Given the description of an element on the screen output the (x, y) to click on. 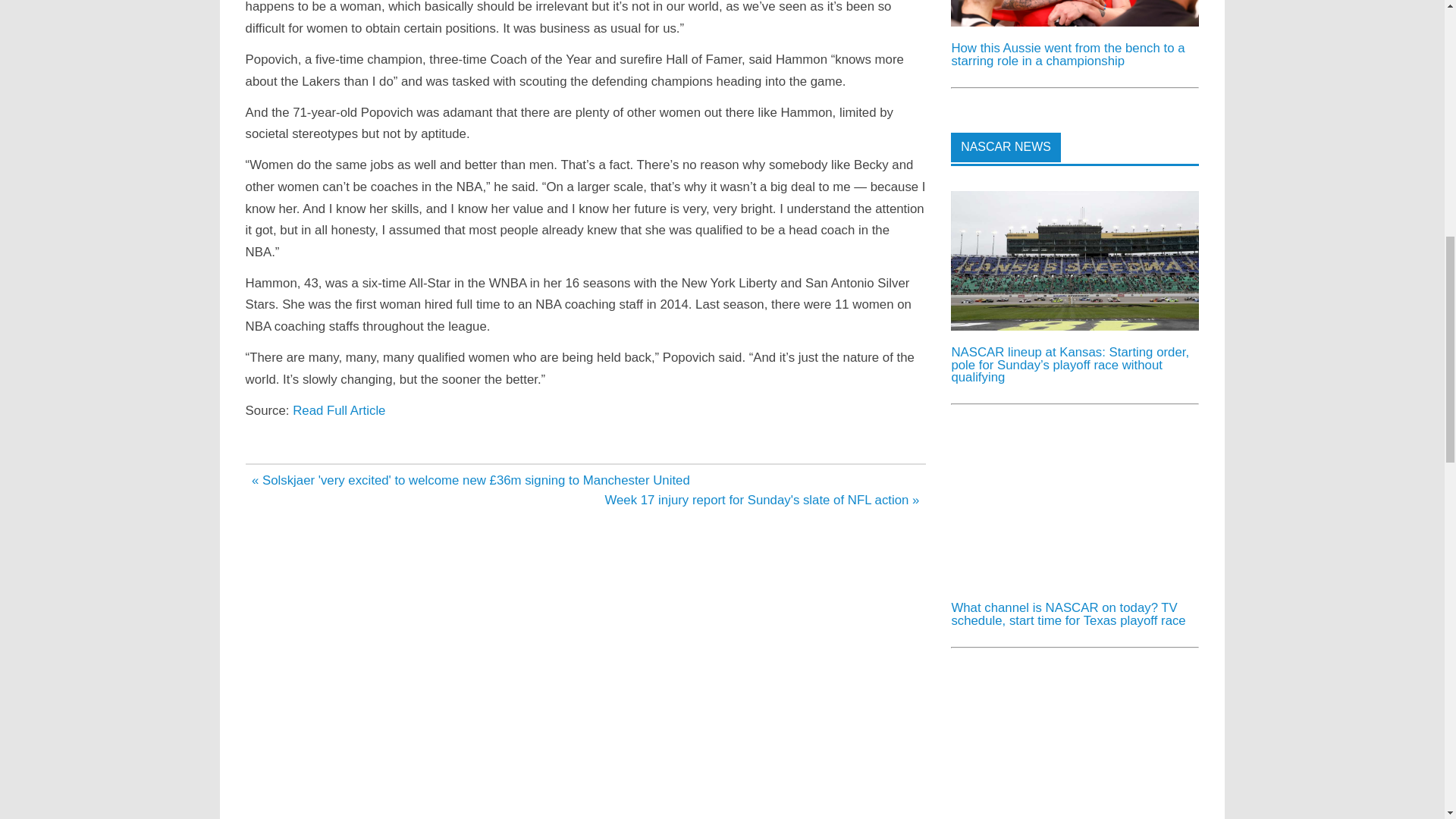
Read Full Article (338, 410)
